Given the description of an element on the screen output the (x, y) to click on. 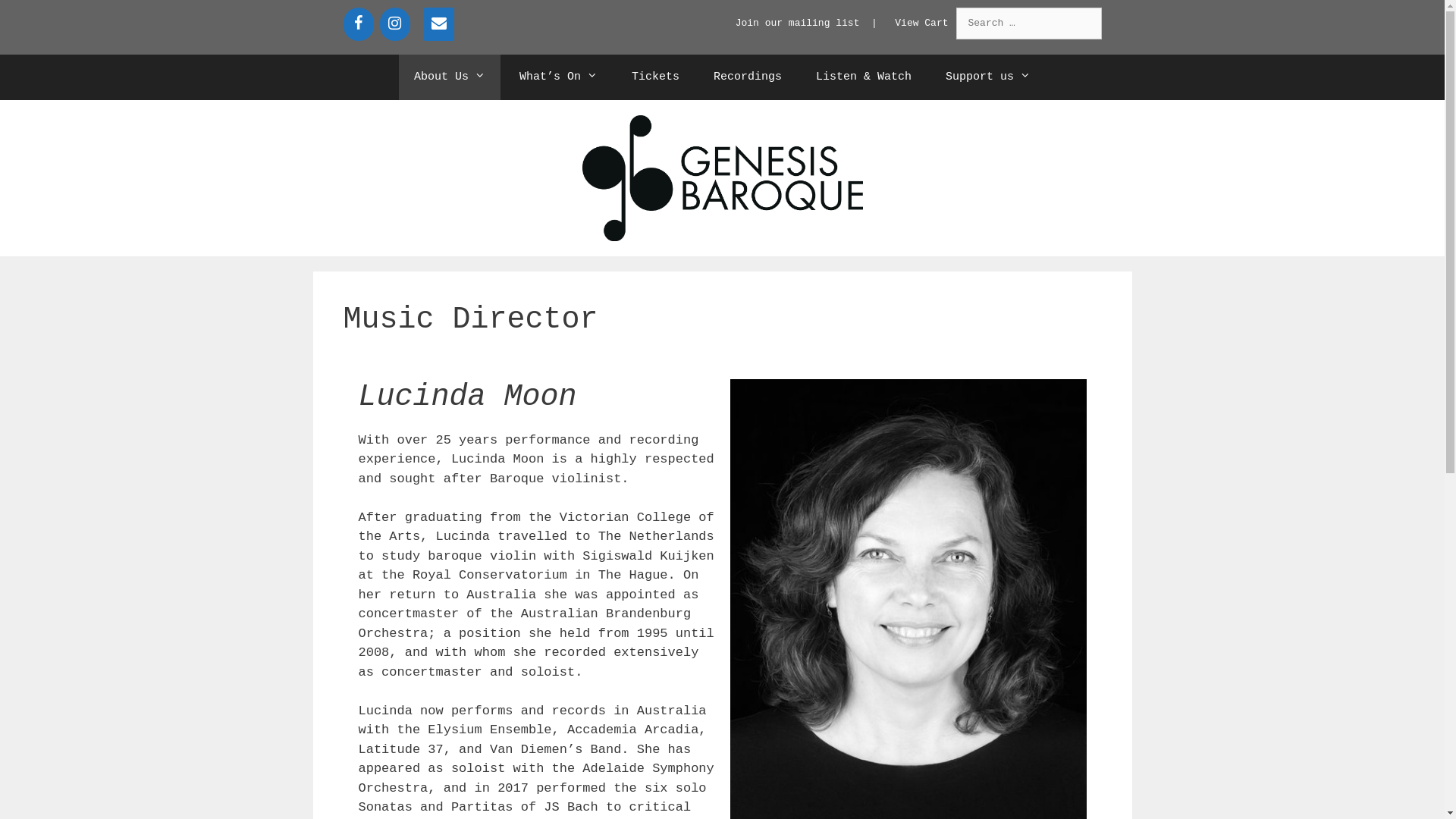
About Us Element type: text (449, 77)
Facebook Element type: hover (357, 23)
Recordings Element type: text (747, 77)
Instagram Element type: hover (394, 23)
Support us Element type: text (987, 77)
Join our mailing list Element type: text (797, 22)
View Cart Element type: text (920, 22)
Listen & Watch Element type: text (863, 77)
Search for: Element type: hover (1028, 23)
Tickets Element type: text (655, 77)
Search Element type: text (33, 15)
